Given the description of an element on the screen output the (x, y) to click on. 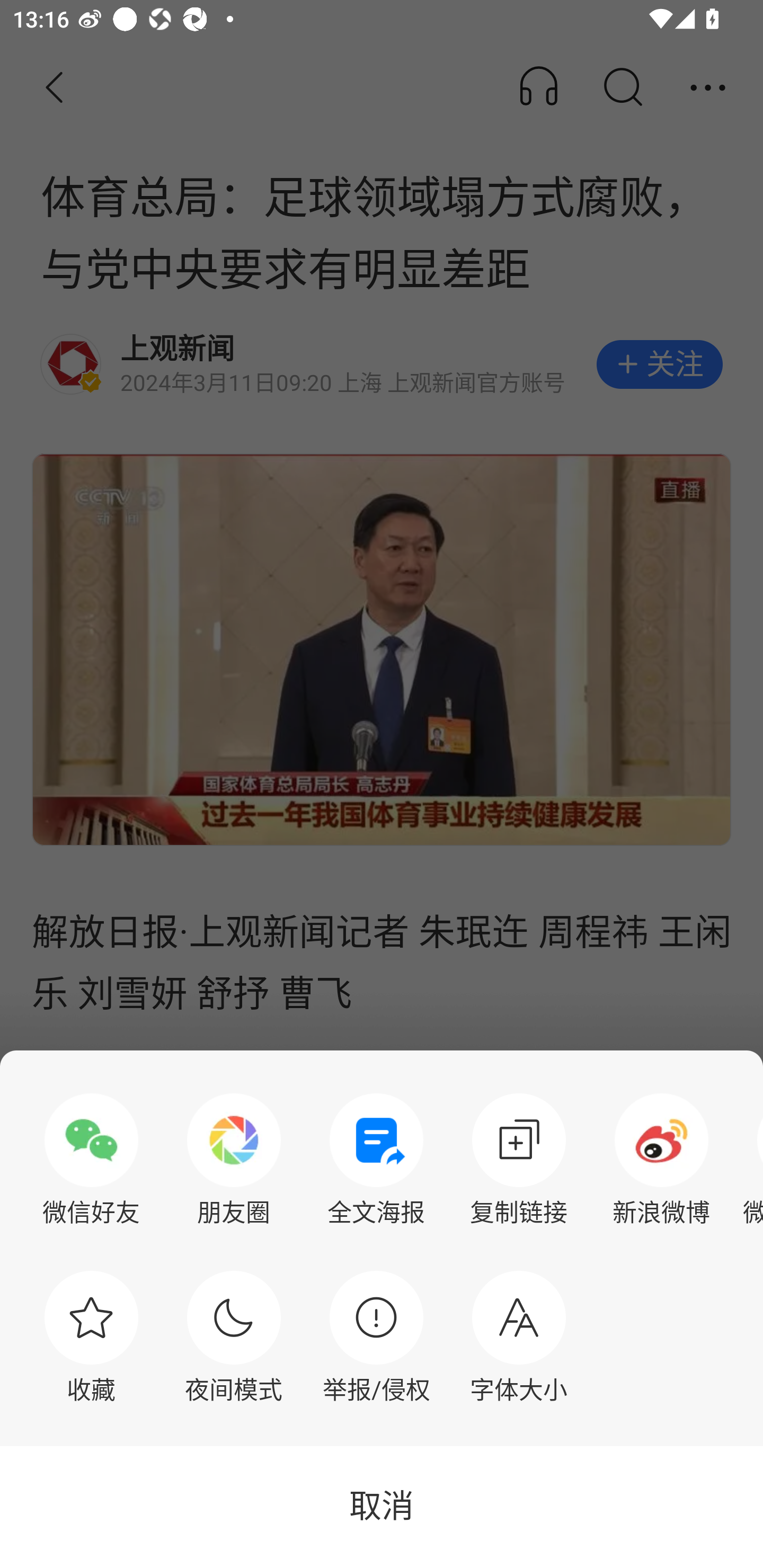
微信好友 (90, 1159)
朋友圈 (233, 1159)
全文海报 (376, 1159)
 复制链接 复制链接 (518, 1159)
新浪微博 (661, 1159)
 收藏 收藏 (90, 1337)
 夜间模式 夜间模式 (233, 1337)
 举报/侵权 举报/侵权 (376, 1337)
 字体大小 字体大小 (518, 1337)
取消 (381, 1506)
